Given the description of an element on the screen output the (x, y) to click on. 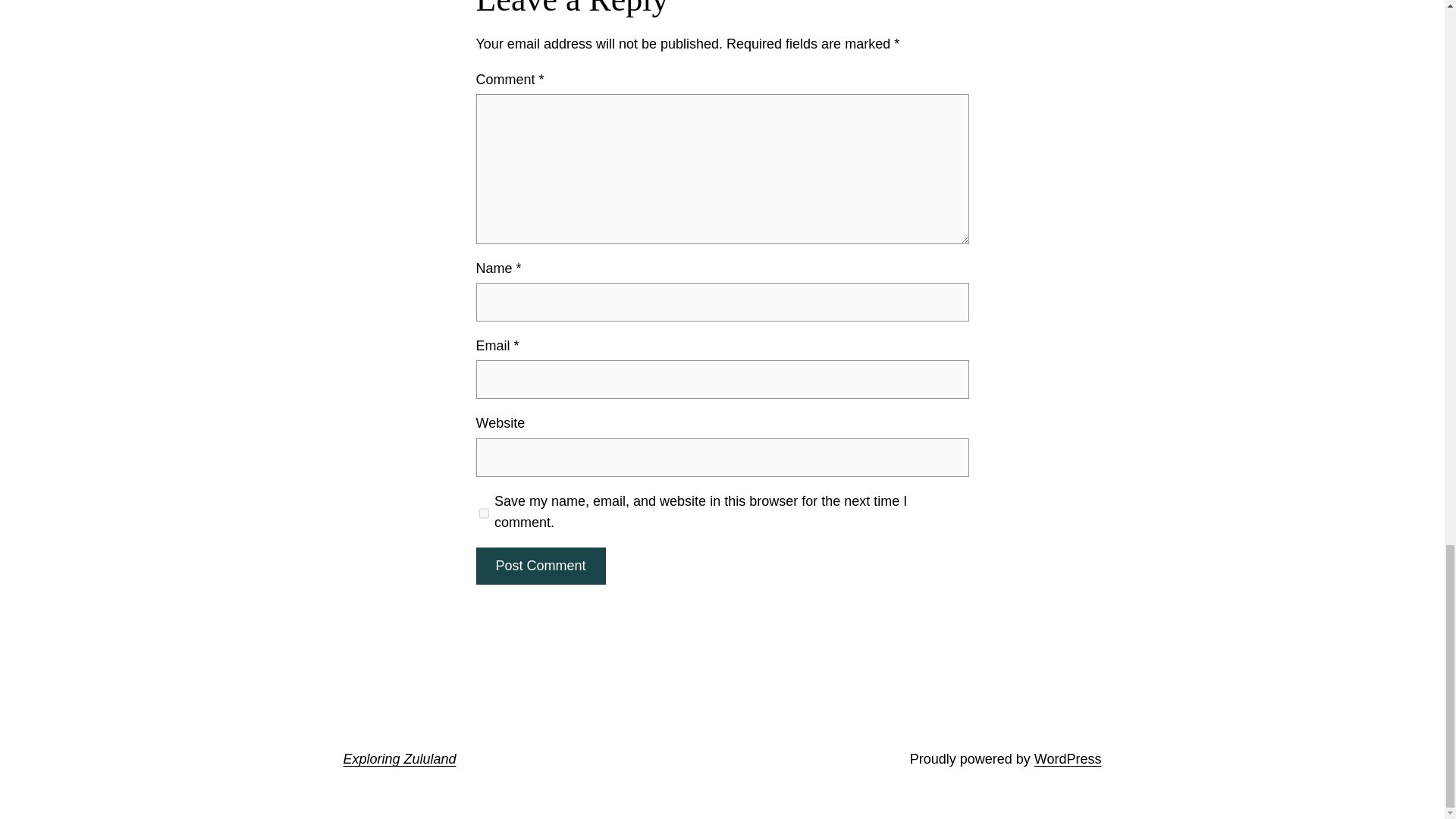
Post Comment (540, 565)
WordPress (1067, 758)
Exploring Zululand (398, 758)
Post Comment (540, 565)
